Given the description of an element on the screen output the (x, y) to click on. 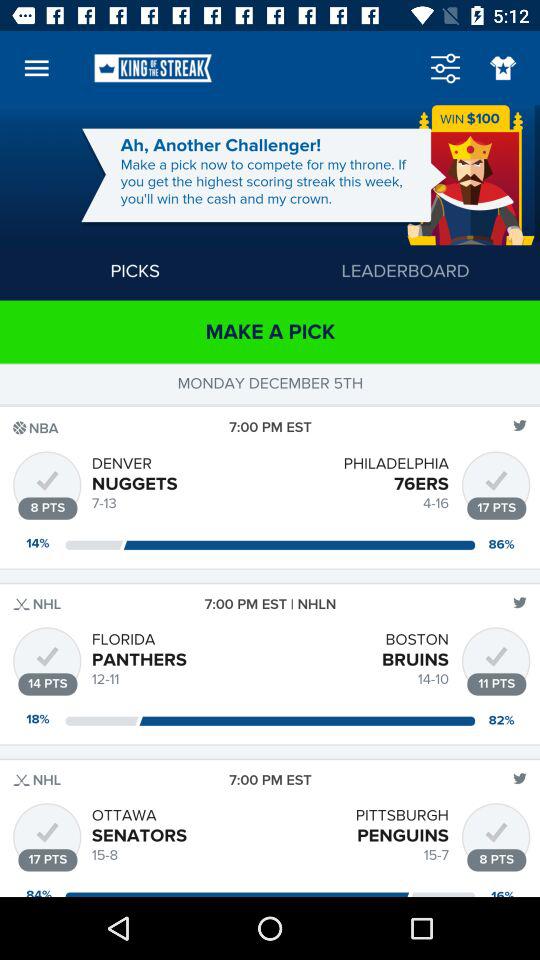
select favorite (502, 68)
